Given the description of an element on the screen output the (x, y) to click on. 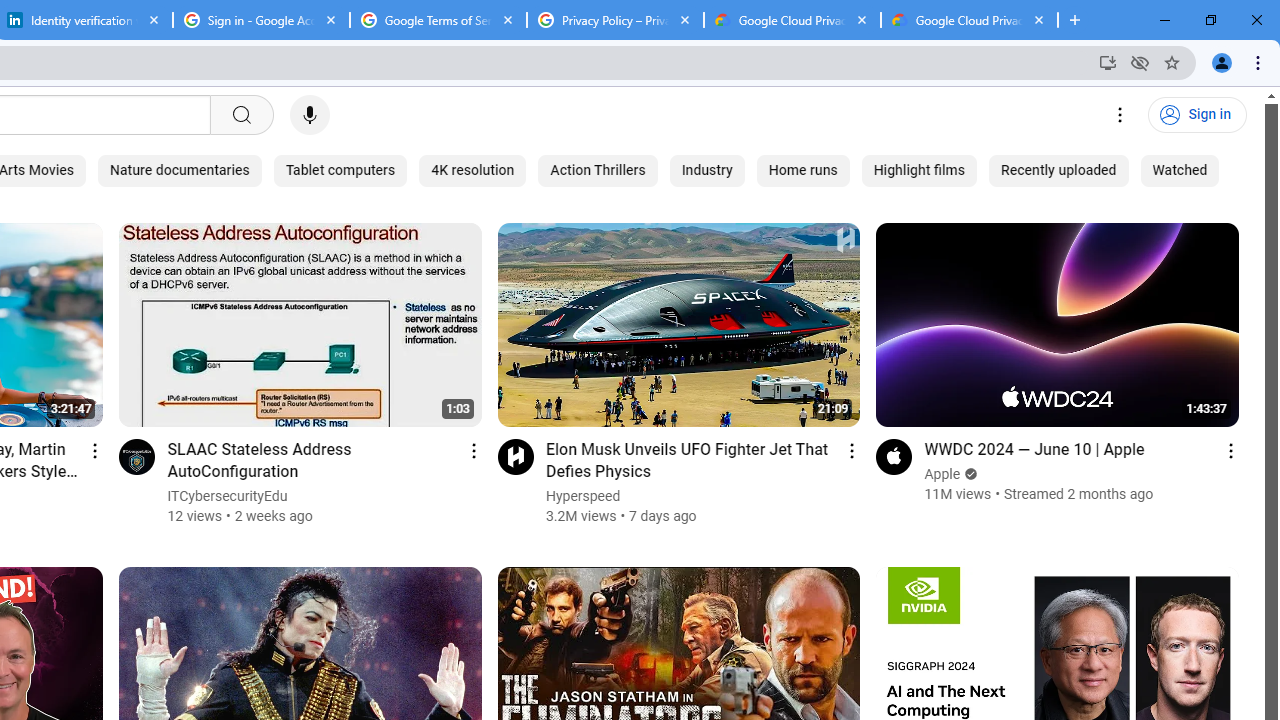
Watched (1179, 170)
Recently uploaded (1058, 170)
4K resolution (472, 170)
Highlight films (919, 170)
Google Cloud Privacy Notice (792, 20)
